Given the description of an element on the screen output the (x, y) to click on. 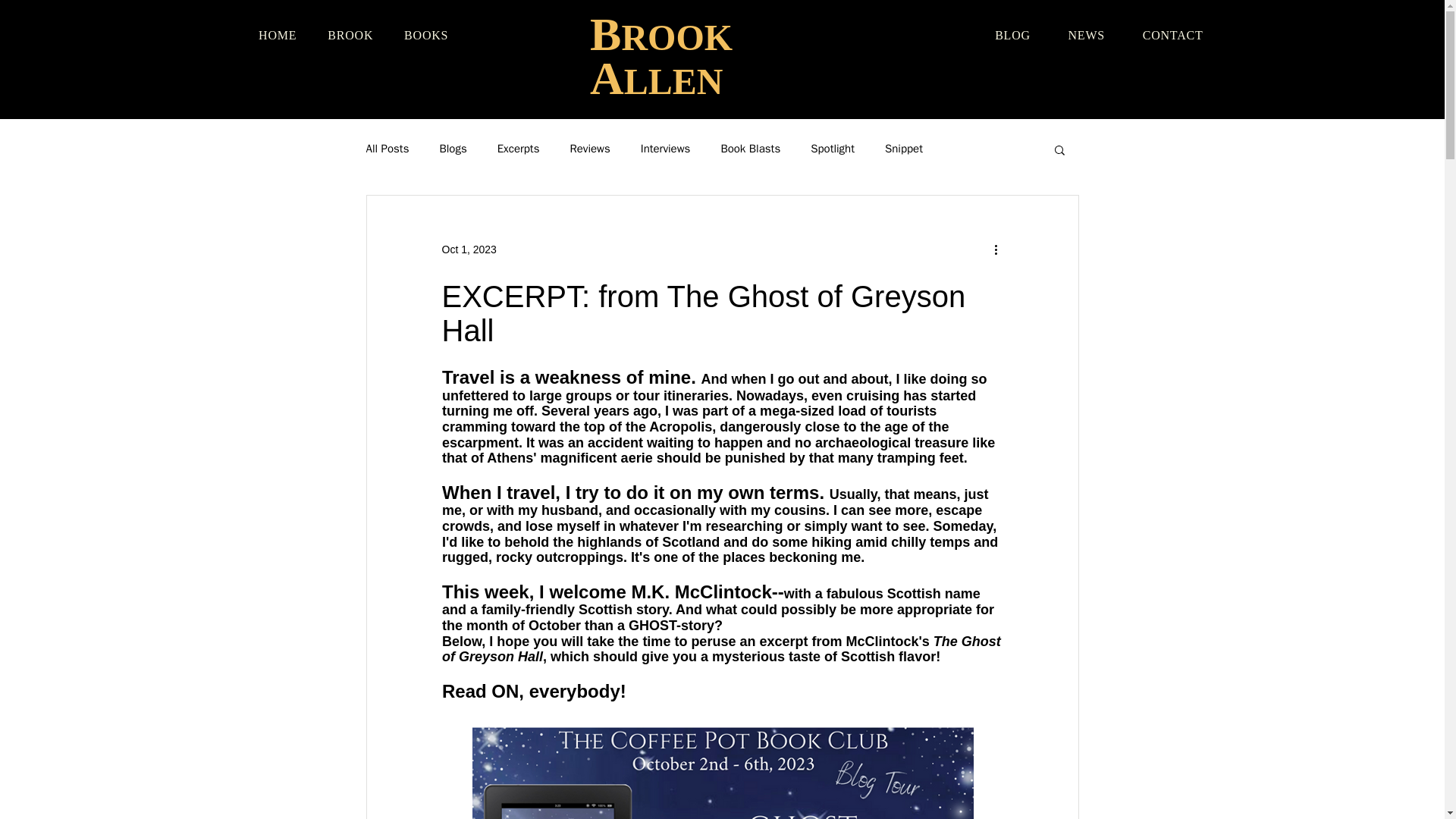
BLOG (1011, 35)
Book Blasts (750, 148)
HOME (277, 35)
Snippet (904, 148)
LEN (685, 81)
Oct 1, 2023 (468, 249)
CONTACT (1172, 35)
Spotlight (832, 148)
ROOK (676, 37)
Blogs (452, 148)
